Given the description of an element on the screen output the (x, y) to click on. 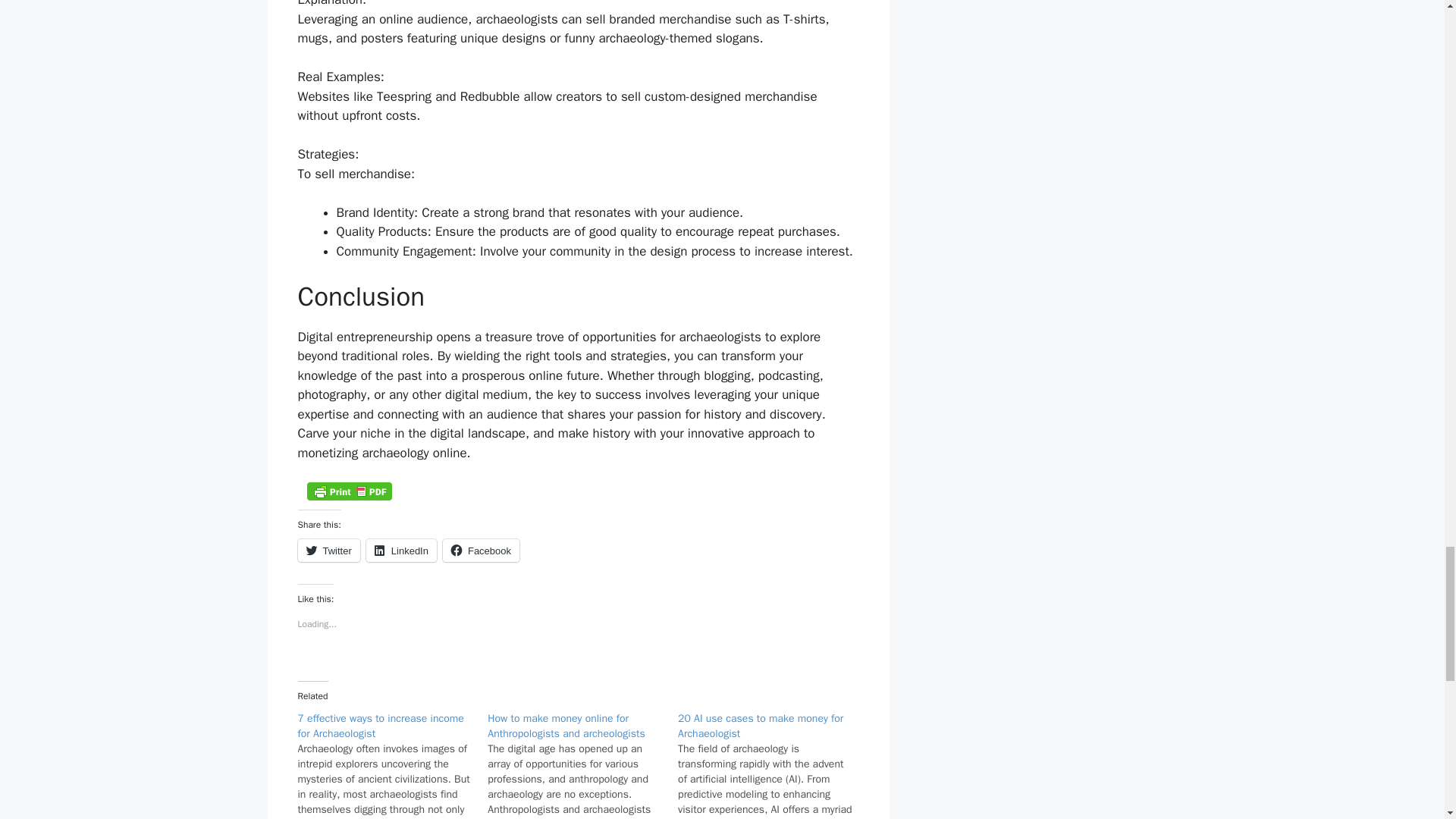
20 AI use cases to make money for Archaeologist (760, 725)
LinkedIn (401, 549)
20 AI use cases to make money for Archaeologist (760, 725)
Facebook (480, 549)
7 effective ways to increase income for Archaeologist (380, 725)
Click to share on Twitter (328, 549)
7 effective ways to increase income for Archaeologist (380, 725)
